Given the description of an element on the screen output the (x, y) to click on. 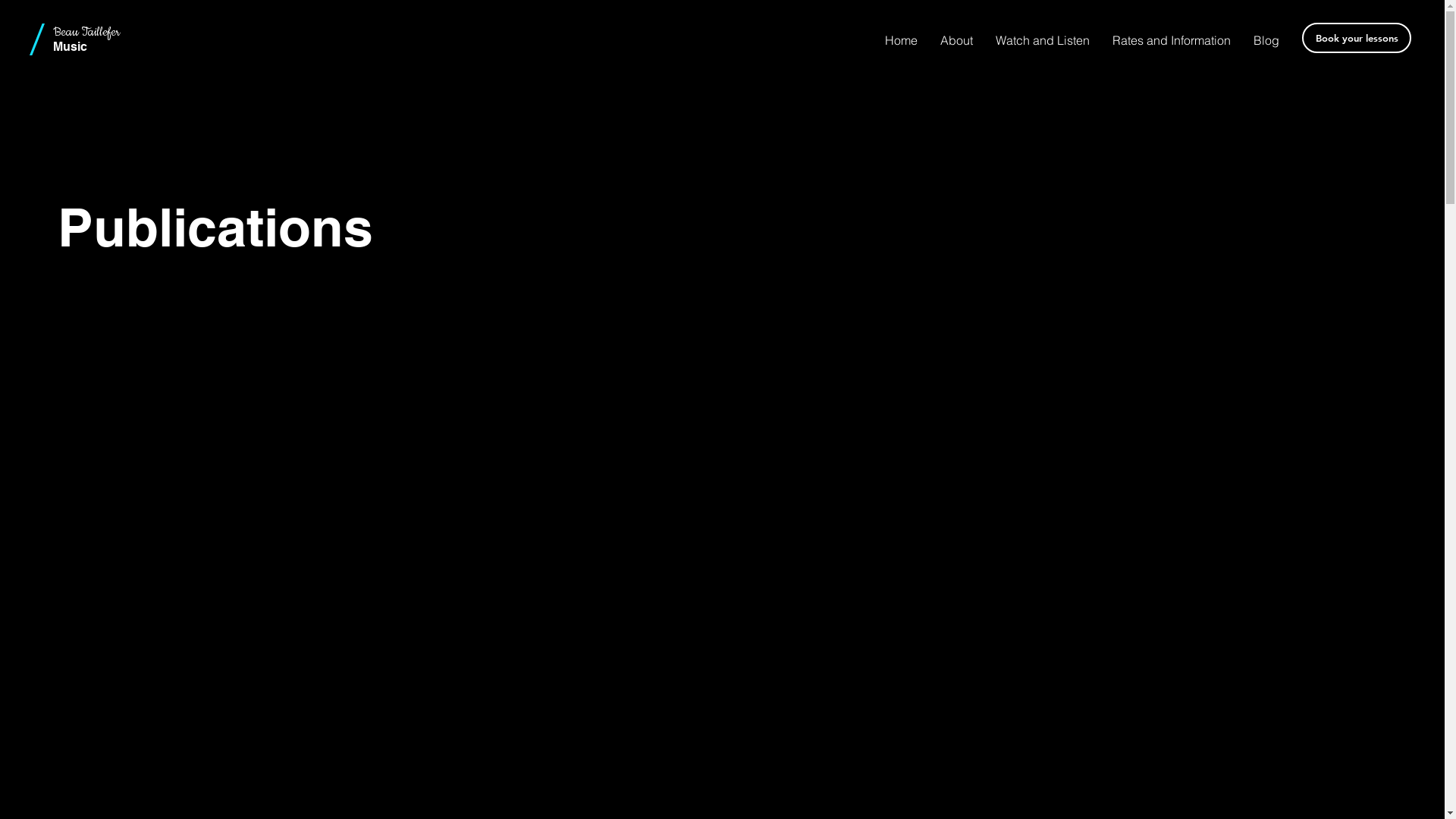
About Element type: text (956, 40)
Home Element type: text (900, 40)
Blog Element type: text (1266, 40)
Beau Taillefer Element type: text (86, 31)
Book your lessons Element type: text (1356, 37)
Rates and Information Element type: text (1171, 40)
Watch and Listen Element type: text (1042, 40)
